Given the description of an element on the screen output the (x, y) to click on. 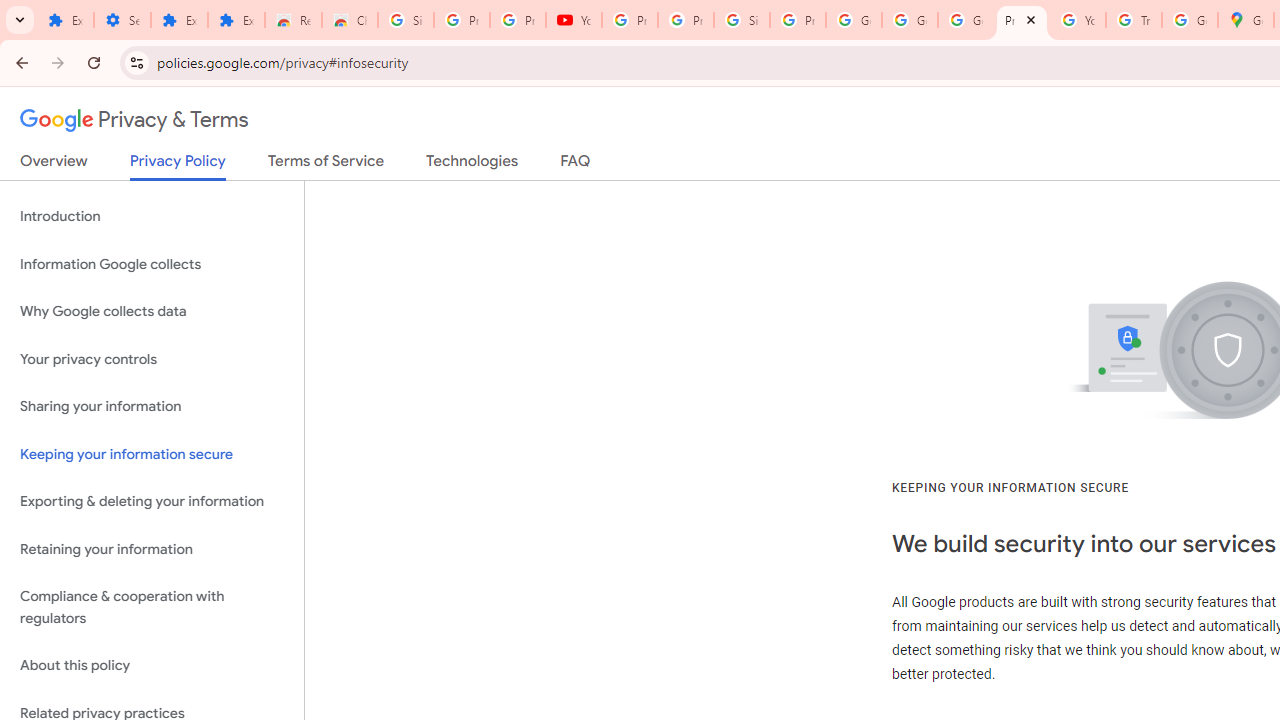
Chrome Web Store - Themes (349, 20)
Extensions (235, 20)
Google Account (853, 20)
Why Google collects data (152, 312)
Sign in - Google Accounts (742, 20)
Technologies (472, 165)
Sign in - Google Accounts (405, 20)
Extensions (65, 20)
YouTube (1077, 20)
Privacy & Terms (134, 120)
Privacy Policy (177, 166)
